Given the description of an element on the screen output the (x, y) to click on. 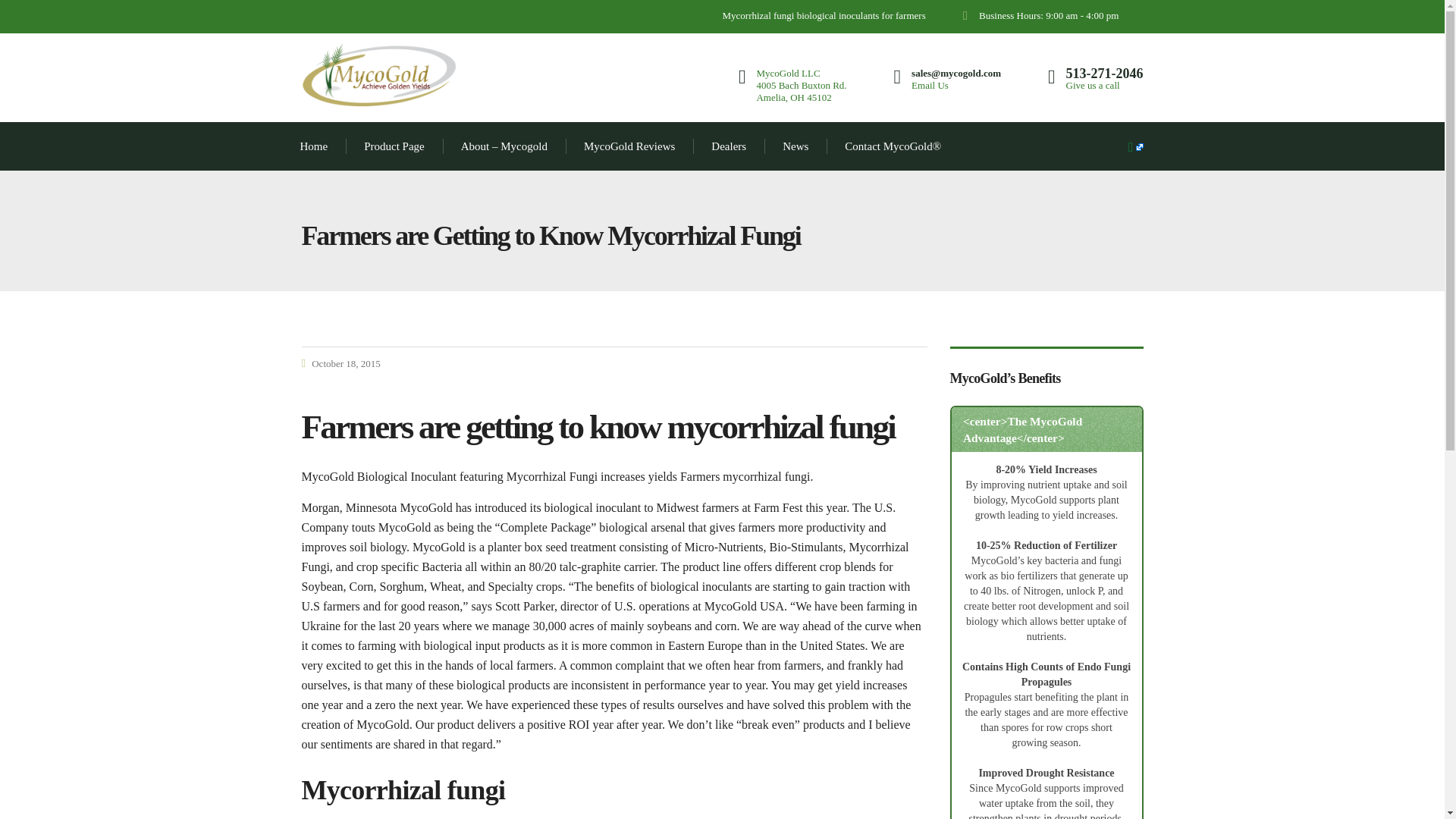
Product Page (394, 146)
Home (314, 146)
513-271-2046 (1103, 73)
News (795, 146)
Dealers (728, 146)
MycoGold Reviews (629, 146)
